Given the description of an element on the screen output the (x, y) to click on. 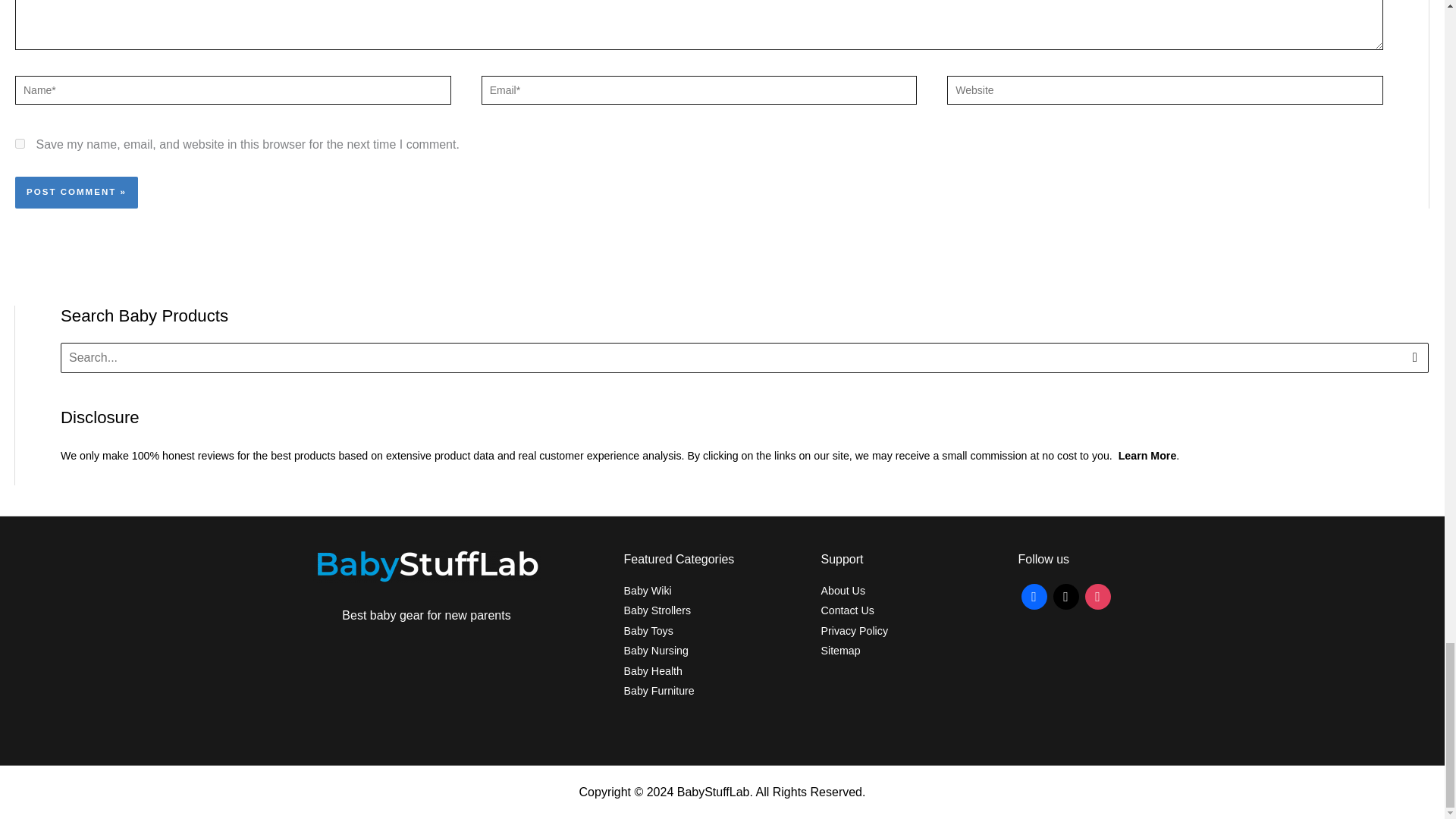
Learn More (1147, 455)
yes (19, 143)
Baby Wiki (647, 590)
